Given the description of an element on the screen output the (x, y) to click on. 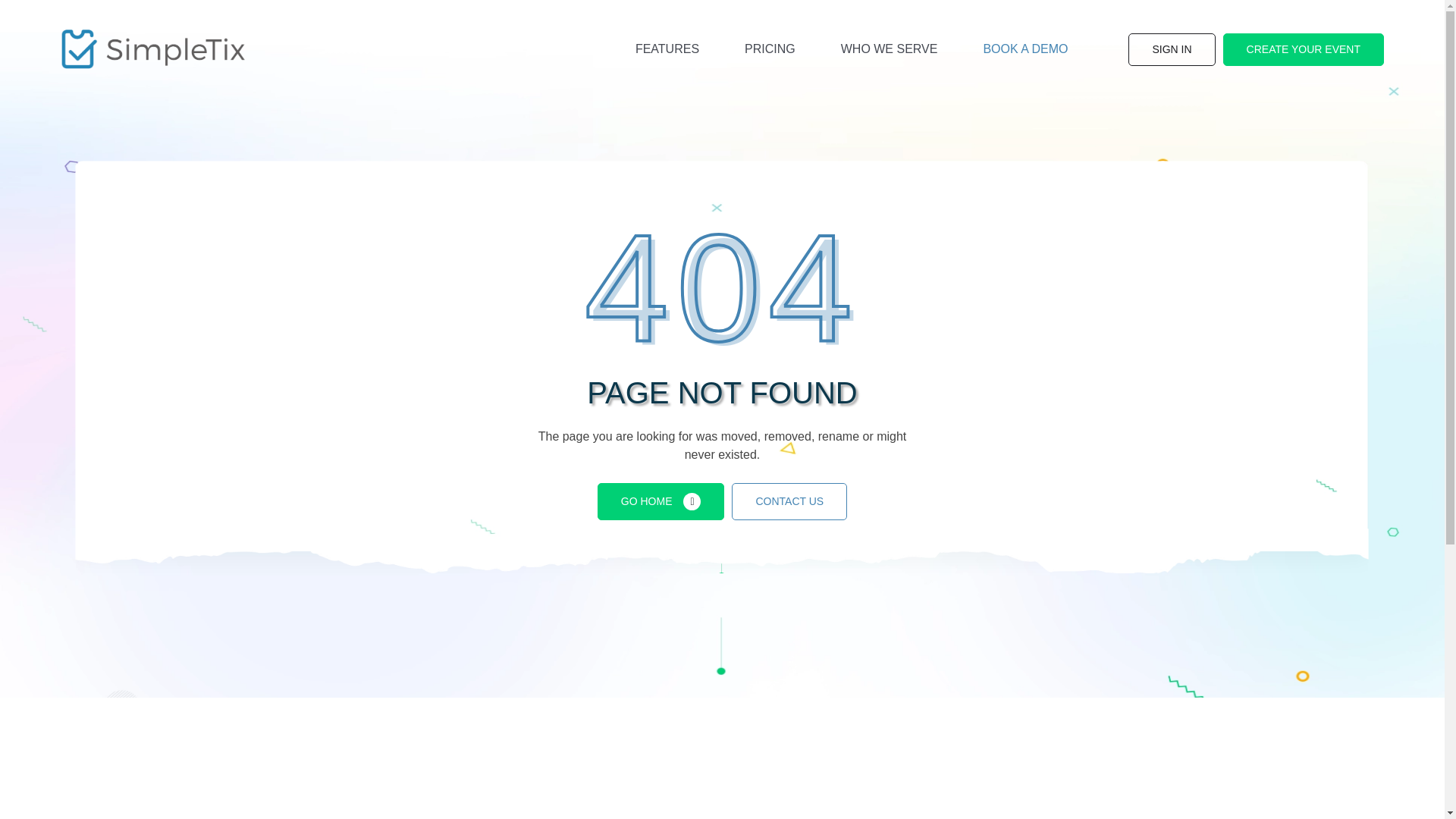
BOOK A DEMO (1024, 49)
GO HOME (660, 501)
PRICING (770, 49)
CONTACT US (789, 501)
WHO WE SERVE (889, 49)
FEATURES (667, 49)
SIGN IN (1171, 49)
CREATE YOUR EVENT (1303, 49)
